Given the description of an element on the screen output the (x, y) to click on. 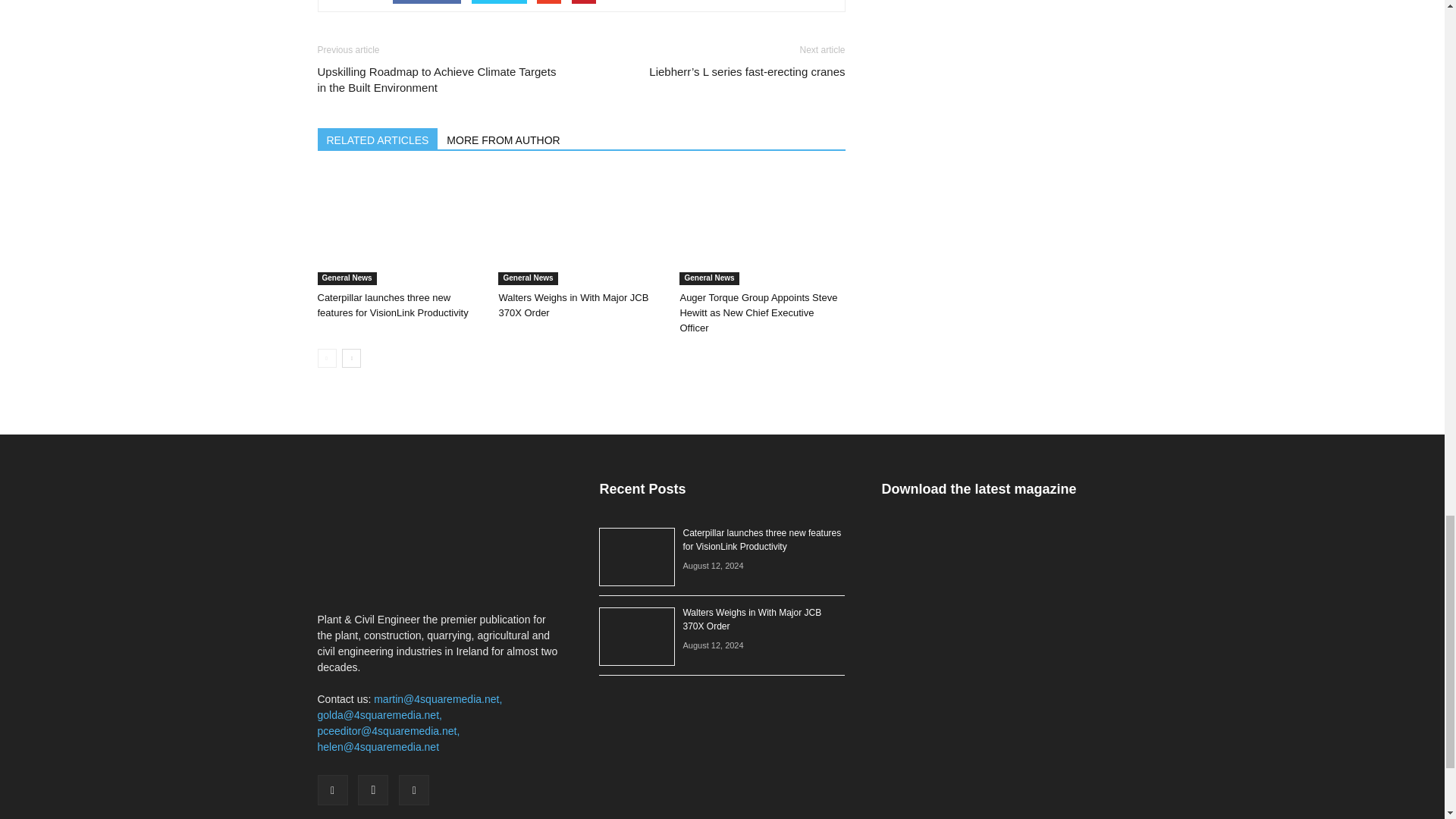
Walters Weighs in With Major JCB 370X Order (580, 228)
Walters Weighs in With Major JCB 370X Order (572, 304)
